Given the description of an element on the screen output the (x, y) to click on. 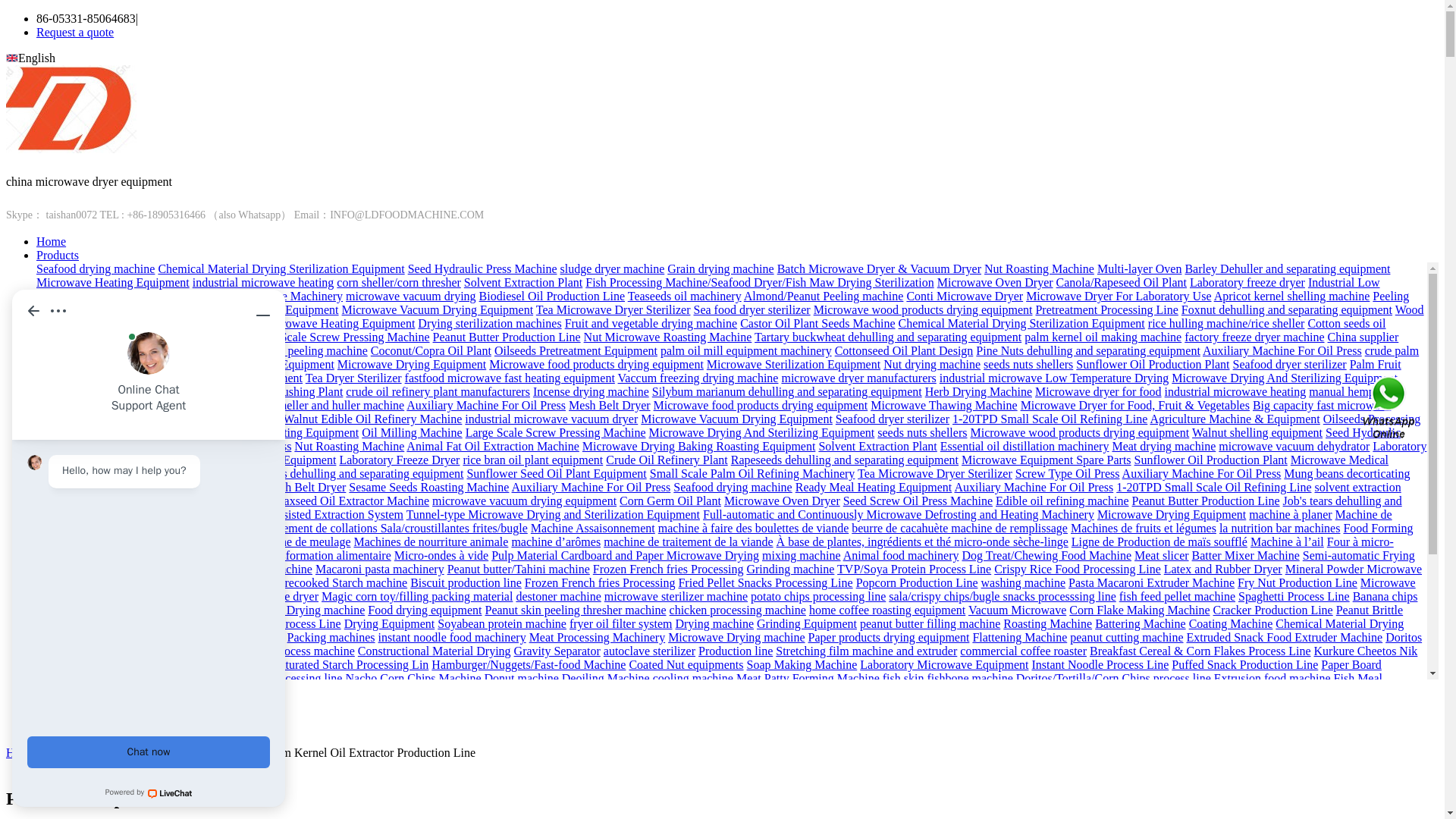
Barley Dehuller and separating equipment (1287, 268)
Seafood drying machine (95, 268)
Teaseeds oil machinery (684, 295)
Multi-layer Oven (1139, 268)
Microwave Heating Equipment (112, 282)
Chemical Material Drying Sterilization Equipment (280, 268)
industrial microwave heating (263, 282)
microwave vacuum drying (411, 295)
tea leaf drying machine (138, 309)
Request a quote (74, 31)
Microwave Oven Dryer (994, 282)
Sea food dryer sterilizer (751, 309)
Foxnut dehulling and separating equipment (1285, 309)
Products (57, 254)
Seed Hydraulic Press Machine (482, 268)
